Given the description of an element on the screen output the (x, y) to click on. 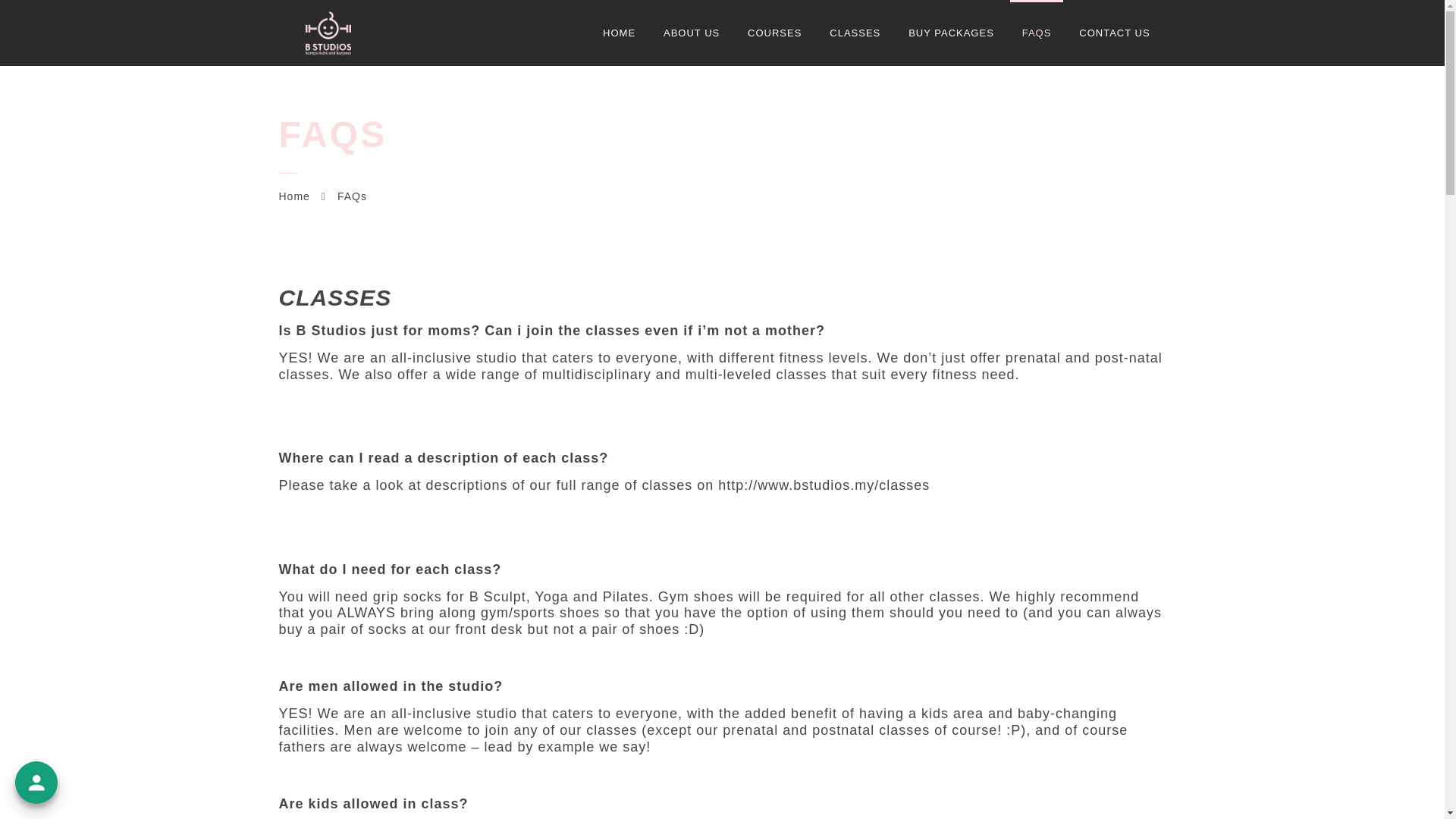
ABOUT US (691, 33)
HOME (619, 33)
CLASSES (854, 33)
bstudios (328, 33)
BUY PACKAGES (951, 33)
Home (294, 196)
CONTACT US (1114, 33)
COURSES (774, 33)
FAQS (1037, 33)
